Given the description of an element on the screen output the (x, y) to click on. 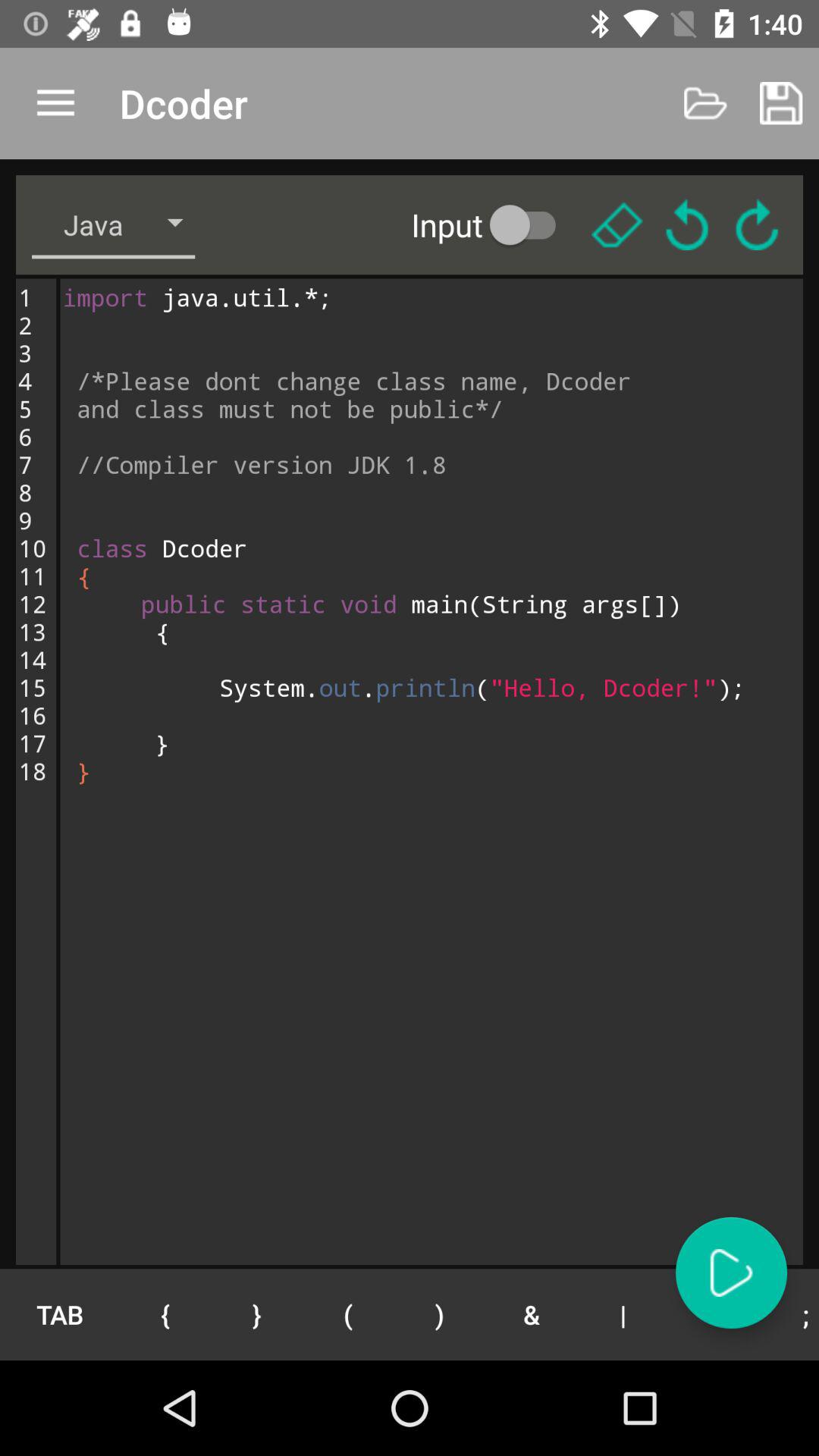
click { (165, 1314)
